Given the description of an element on the screen output the (x, y) to click on. 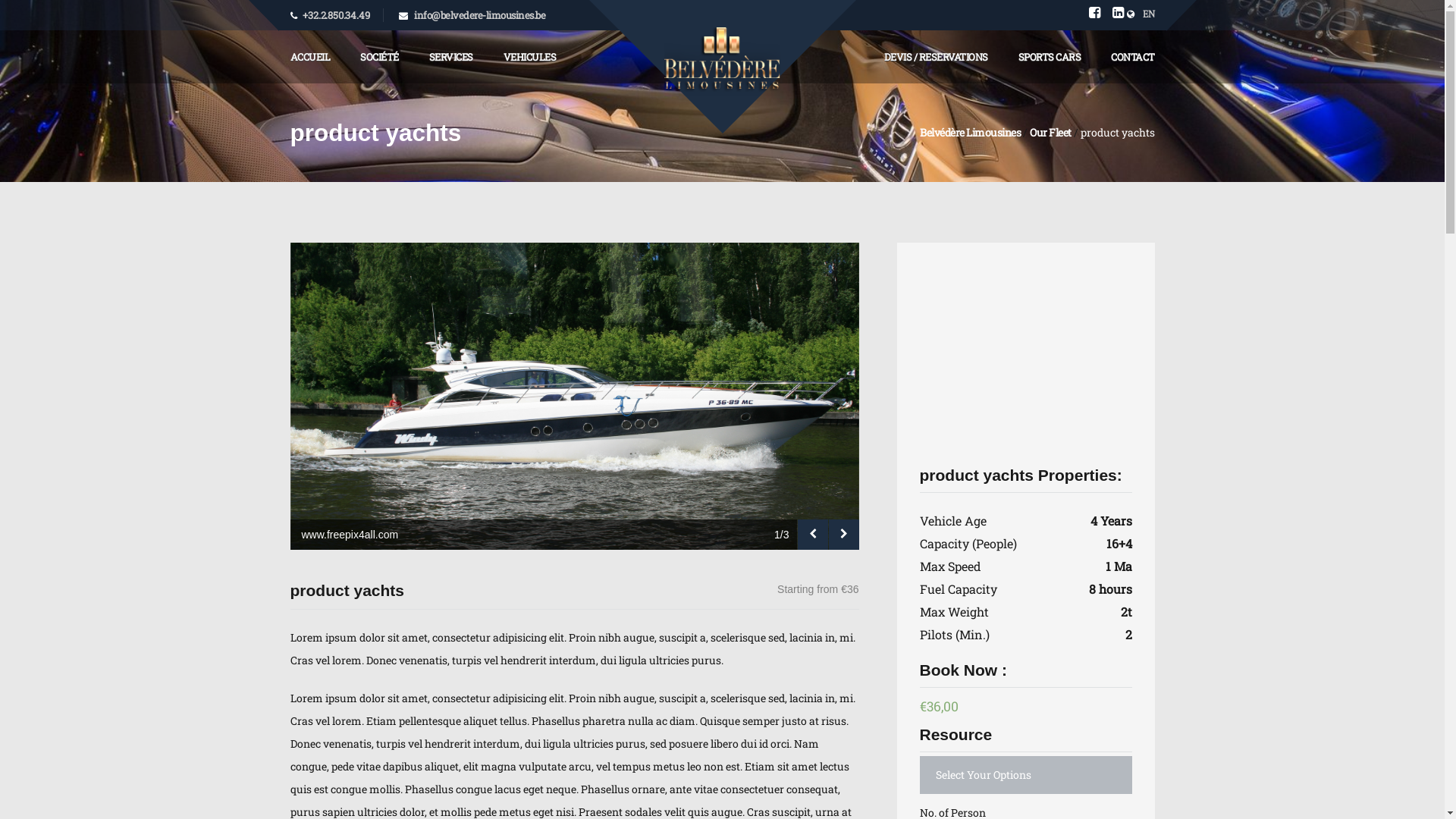
DEVIS / RESERVATIONS Element type: text (936, 56)
SERVICES Element type: text (451, 56)
VEHICULES Element type: text (529, 56)
Soumettre Element type: text (45, 18)
EN Element type: text (1140, 15)
Our Fleet Element type: text (1050, 132)
info@belvedere-limousines.be Element type: text (479, 14)
ACCUEIL Element type: text (309, 56)
CONTACT Element type: text (1132, 56)
SPORTS CARS Element type: text (1048, 56)
